Given the description of an element on the screen output the (x, y) to click on. 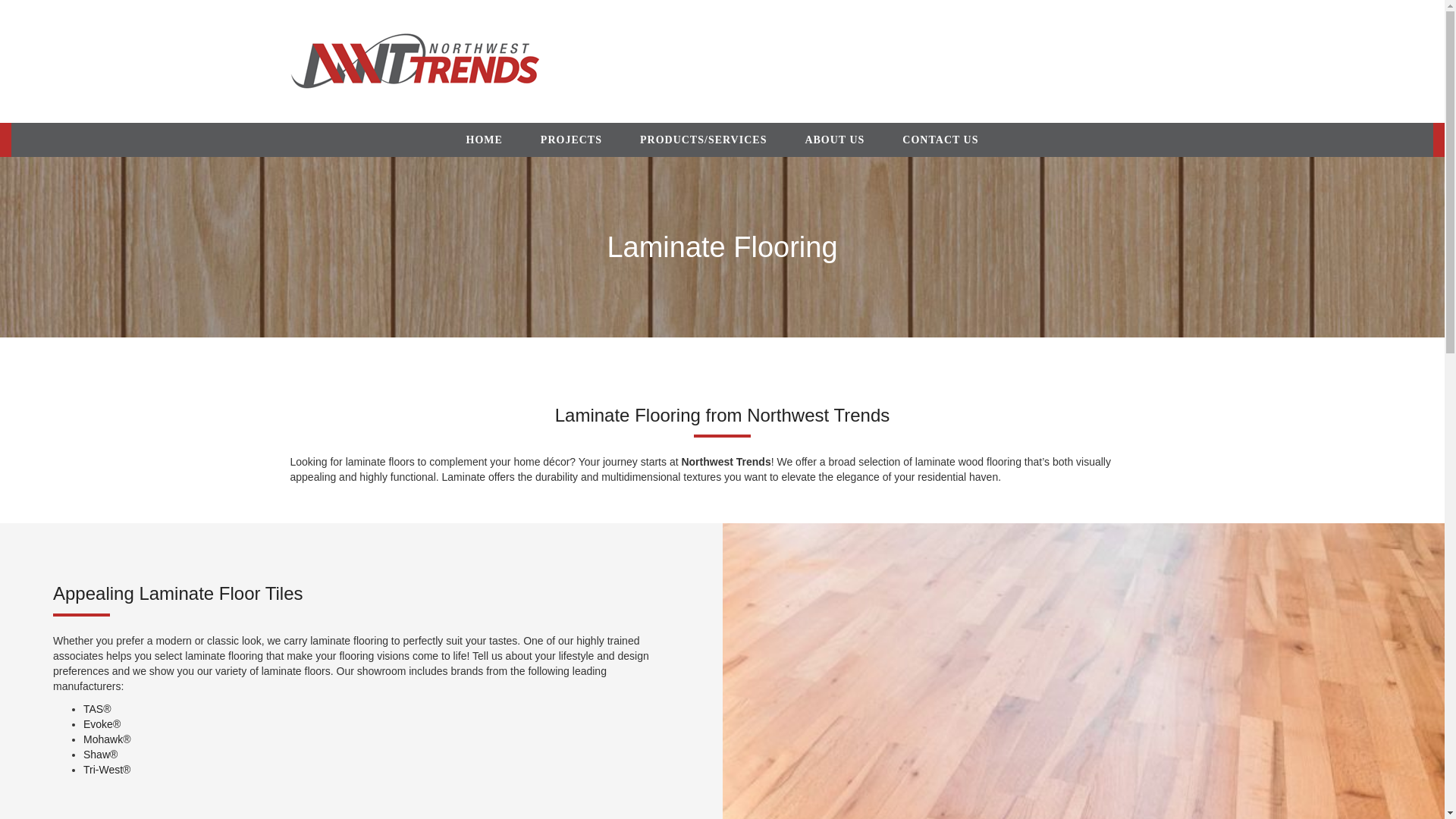
CONTACT US (940, 139)
PROJECTS (571, 139)
ABOUT US (834, 139)
HOME (483, 139)
